Given the description of an element on the screen output the (x, y) to click on. 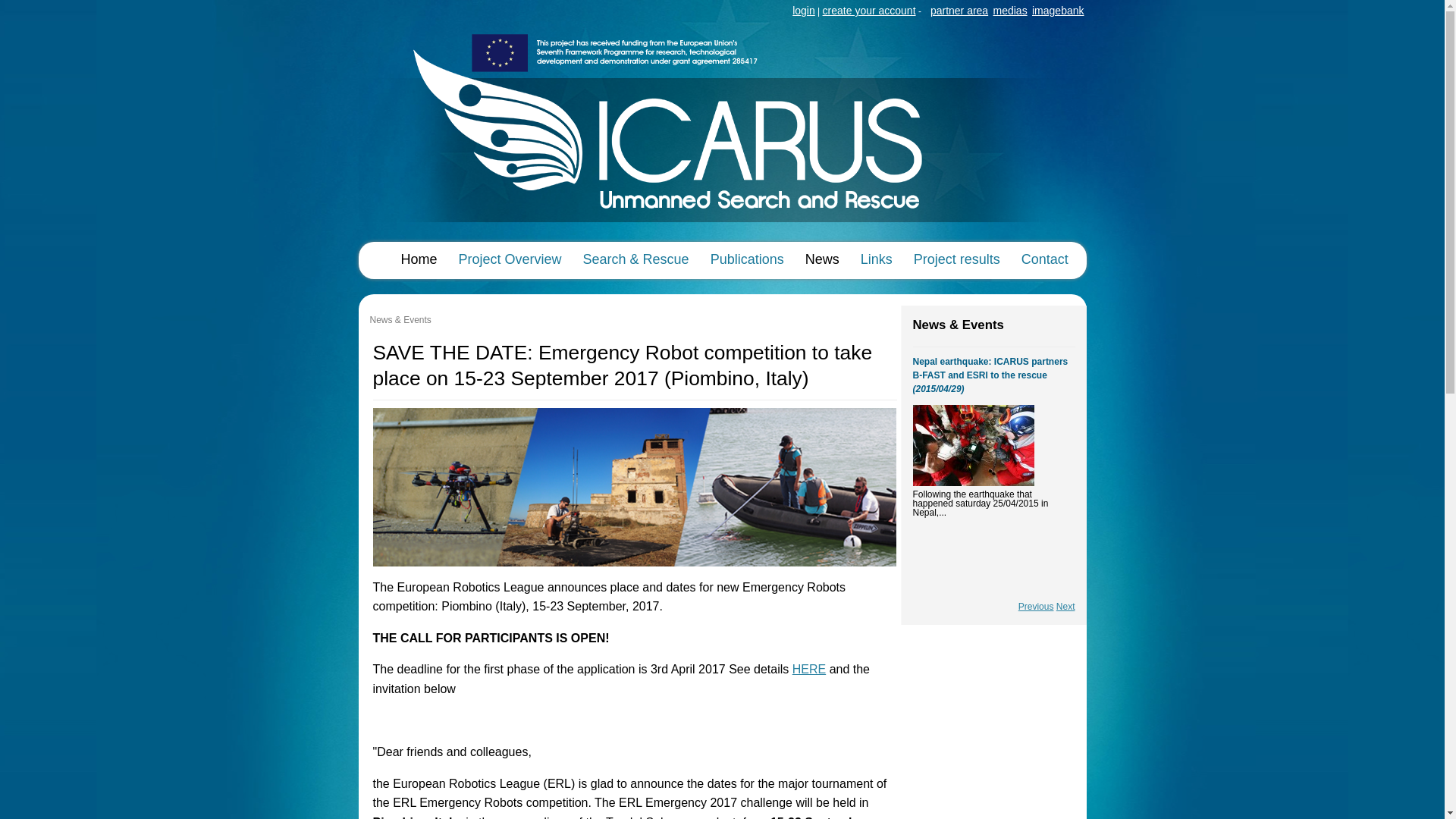
imagebank Element type: text (1058, 10)
News & Events Element type: text (400, 319)
Previous Element type: text (1036, 606)
Contact Element type: text (1044, 259)
HERE Element type: text (808, 668)
Home Element type: hover (721, 234)
partner area Element type: text (959, 10)
Project Overview Element type: text (509, 259)
Links Element type: text (876, 259)
Next Element type: text (1065, 606)
News Element type: text (822, 259)
Project results Element type: text (956, 259)
Publications Element type: text (747, 259)
create your account Element type: text (869, 10)
medias Element type: text (1010, 10)
login Element type: text (803, 10)
B-FAST at work Element type: hover (973, 445)
Search & Rescue Element type: text (636, 259)
Home Element type: text (418, 259)
